Given the description of an element on the screen output the (x, y) to click on. 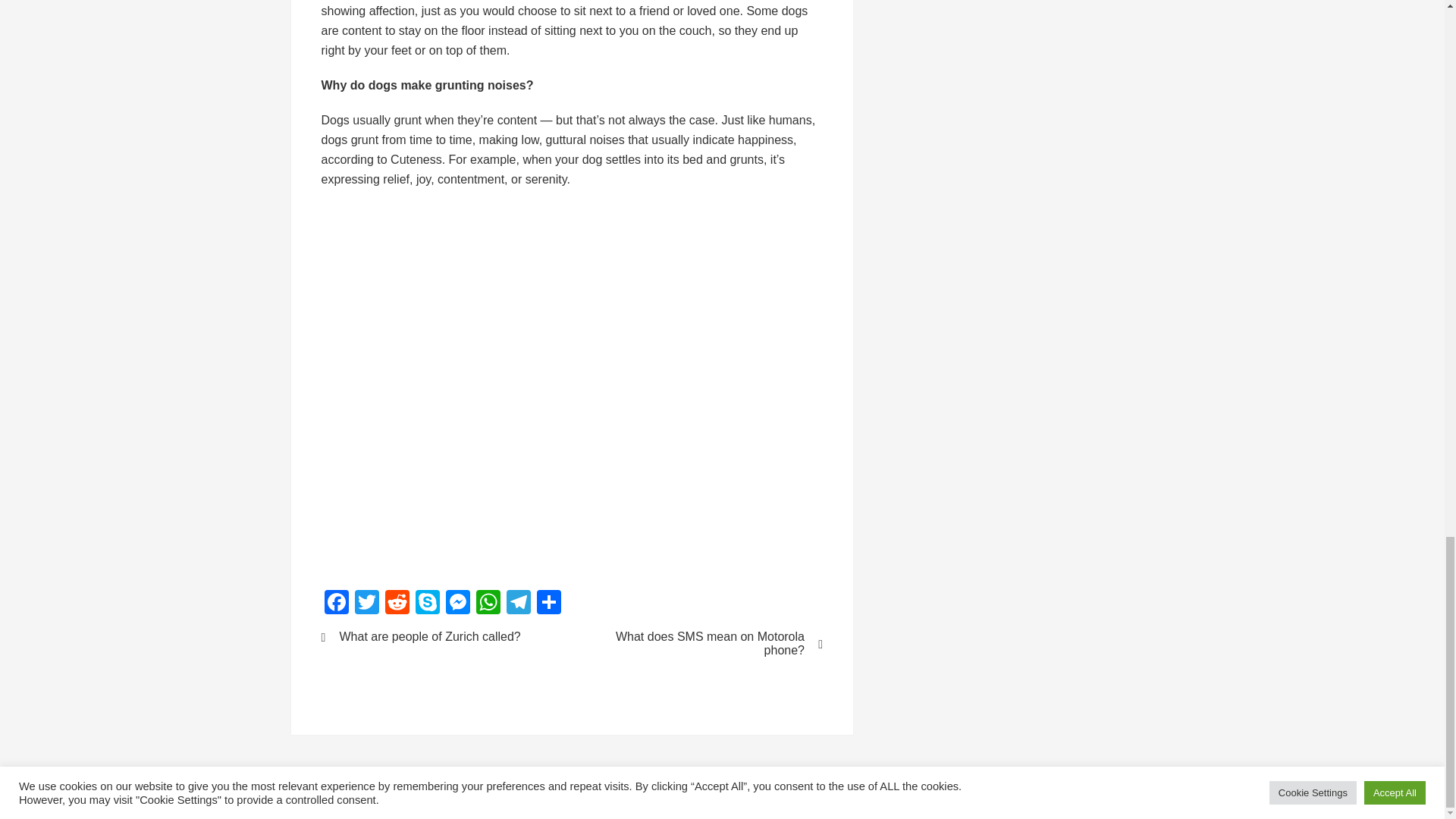
Telegram (518, 603)
Telegram (518, 603)
ThemeCountry (722, 797)
Facebook (336, 603)
Messenger (457, 603)
Reddit (396, 603)
WhatsApp (488, 603)
Messenger (457, 603)
Twitter (366, 603)
What does SMS mean on Motorola phone? (707, 643)
